Given the description of an element on the screen output the (x, y) to click on. 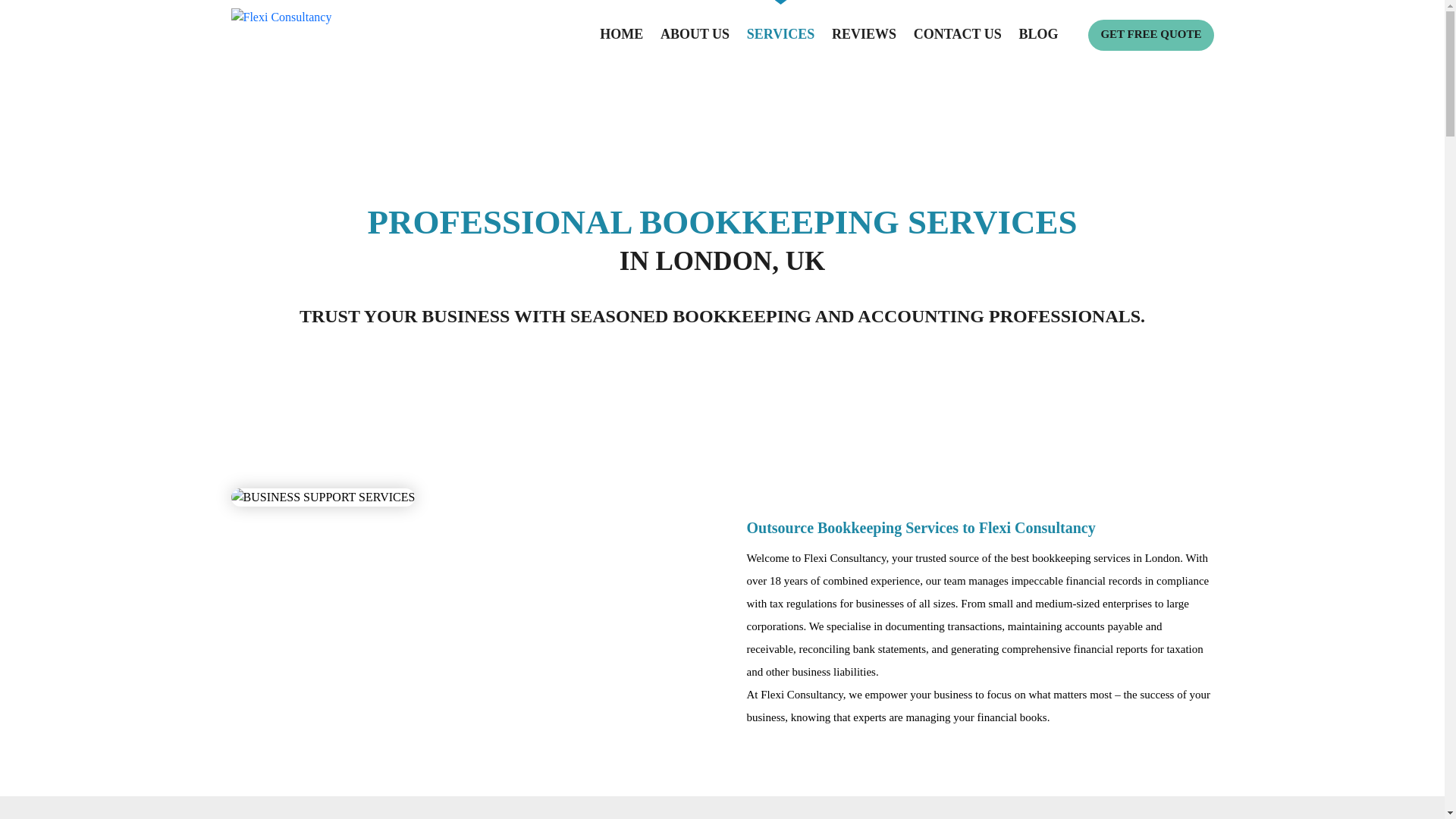
ABOUT US (694, 35)
SERVICES (780, 35)
REVIEWS (864, 35)
CONTACT US (957, 35)
GET FREE QUOTE (1149, 34)
